Given the description of an element on the screen output the (x, y) to click on. 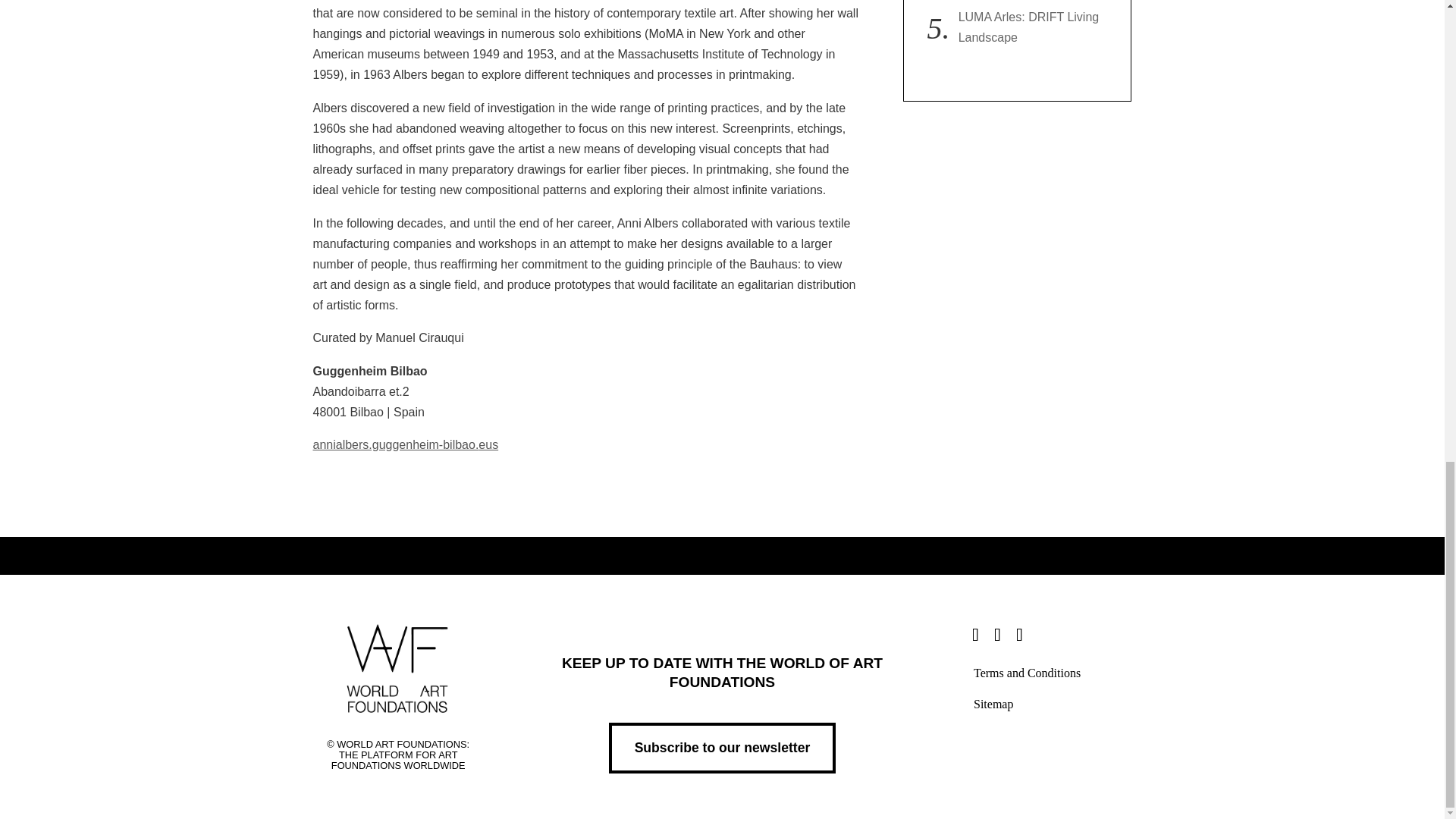
annialbers.guggenheim-bilbao.eus (405, 444)
